Given the description of an element on the screen output the (x, y) to click on. 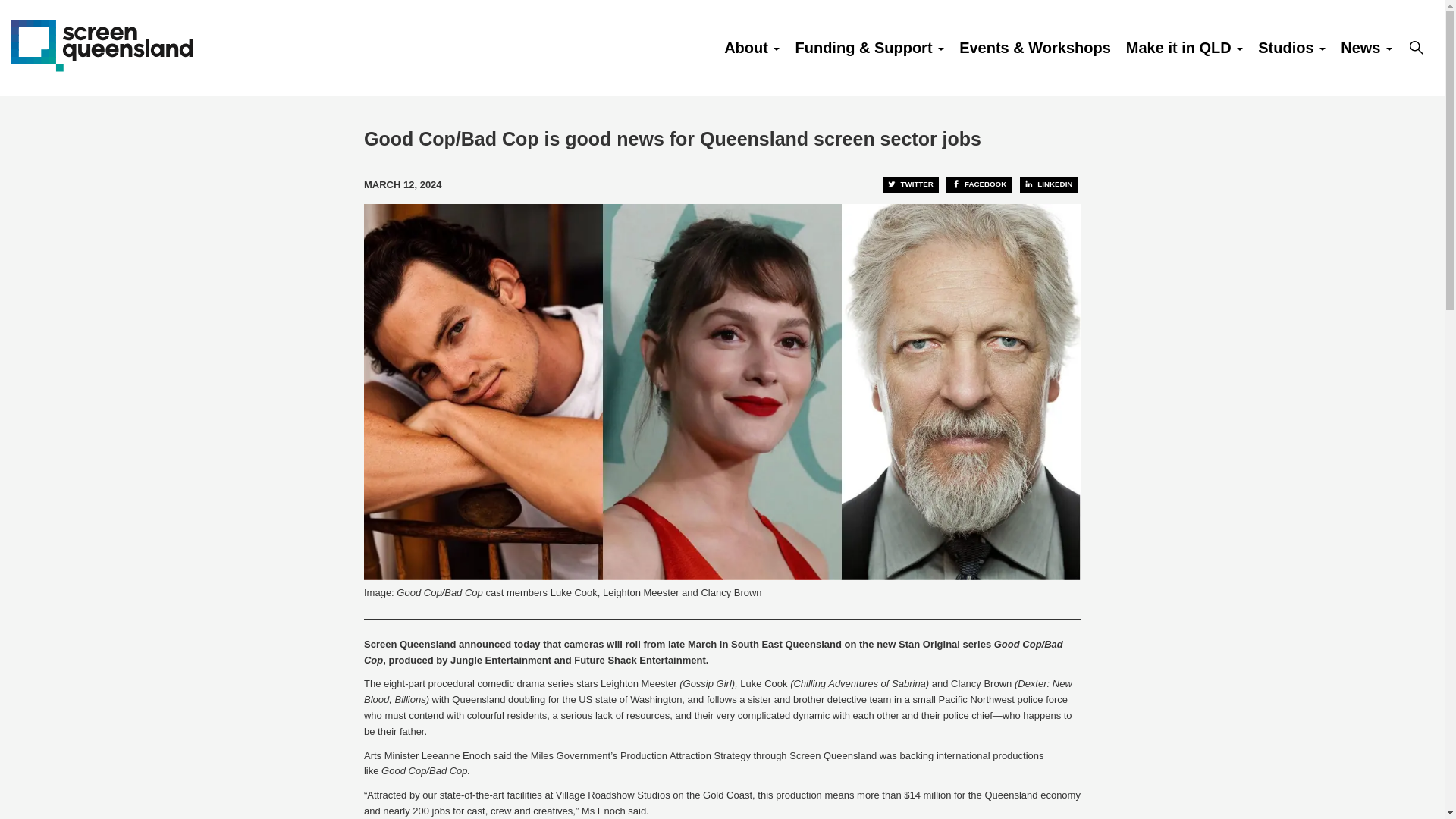
About (751, 47)
Make it in QLD (1184, 47)
About (751, 47)
screen queensland (102, 43)
